Given the description of an element on the screen output the (x, y) to click on. 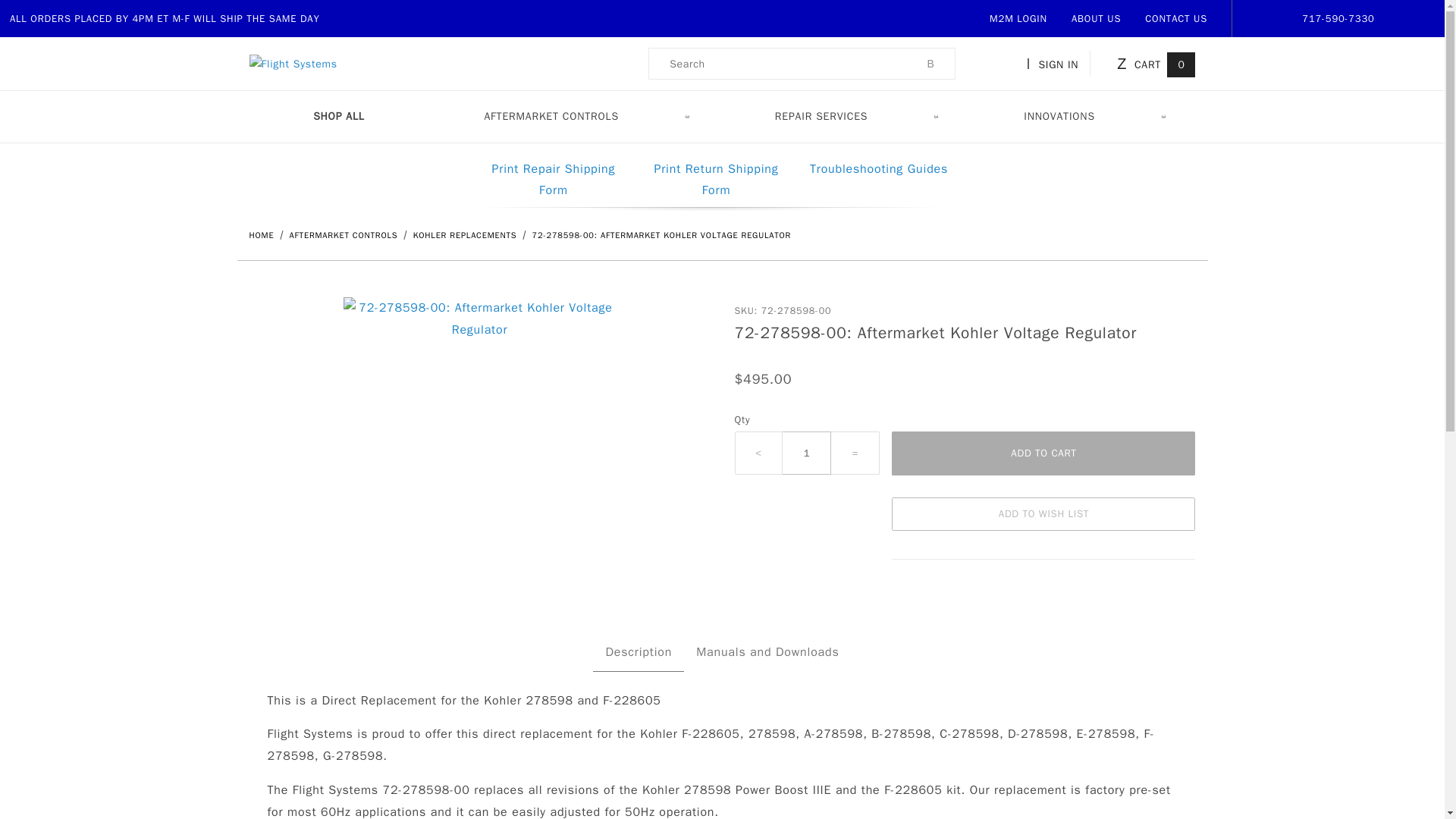
Add To Cart (1043, 453)
CONTACT US (1175, 18)
SHOP ALL (338, 116)
SIGN IN (1055, 63)
REPAIR SERVICES (855, 116)
Home (262, 235)
ABOUT US (1096, 18)
About Us (1096, 18)
M2M LOGIN (1018, 18)
72-278598-00: Aftermarket Kohler Voltage Regulator (662, 235)
